Given the description of an element on the screen output the (x, y) to click on. 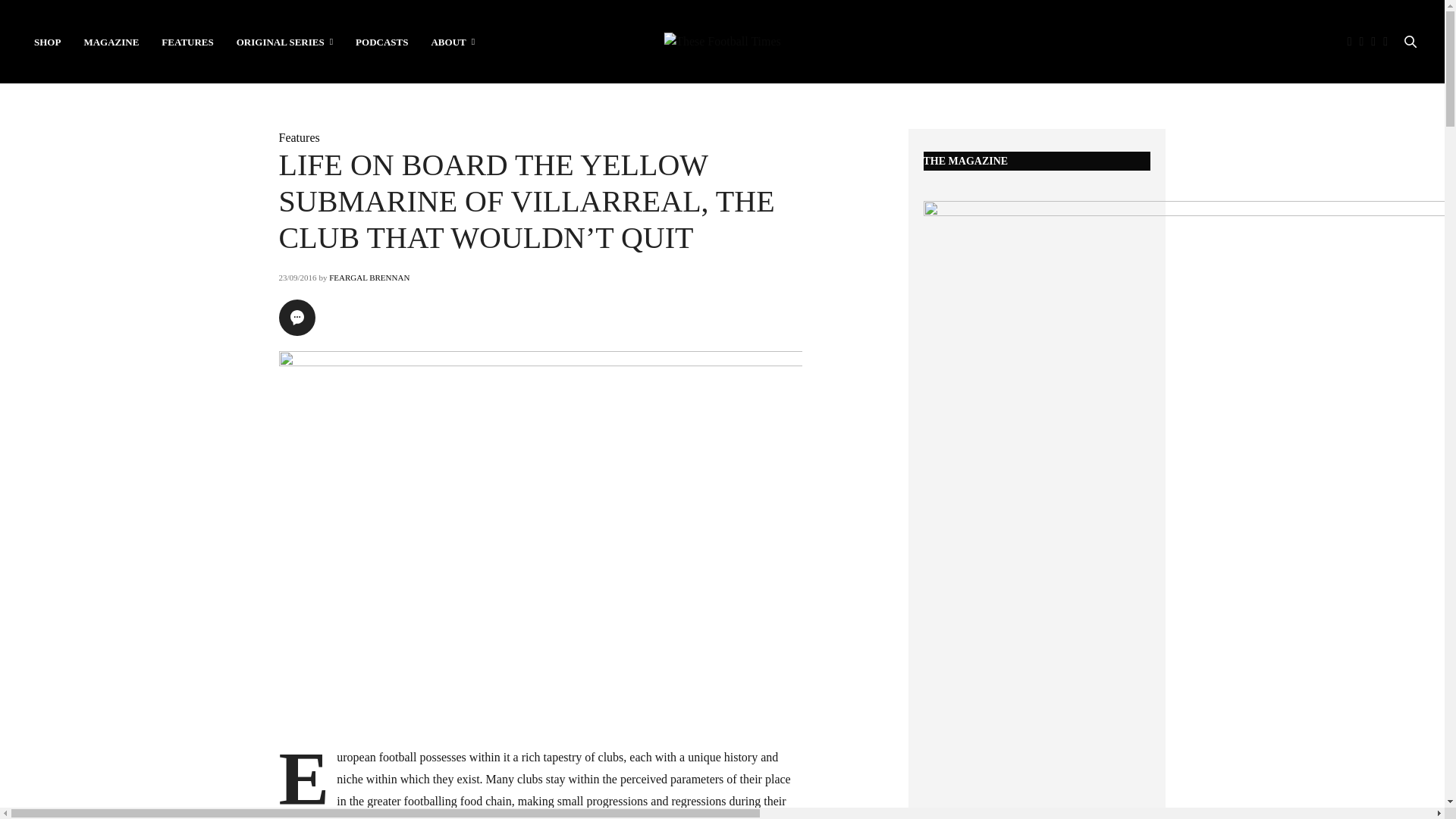
MAGAZINE (110, 41)
Posts by Feargal Brennan (369, 276)
ORIGINAL SERIES (284, 41)
These Football Times (721, 41)
FEATURES (186, 41)
